Given the description of an element on the screen output the (x, y) to click on. 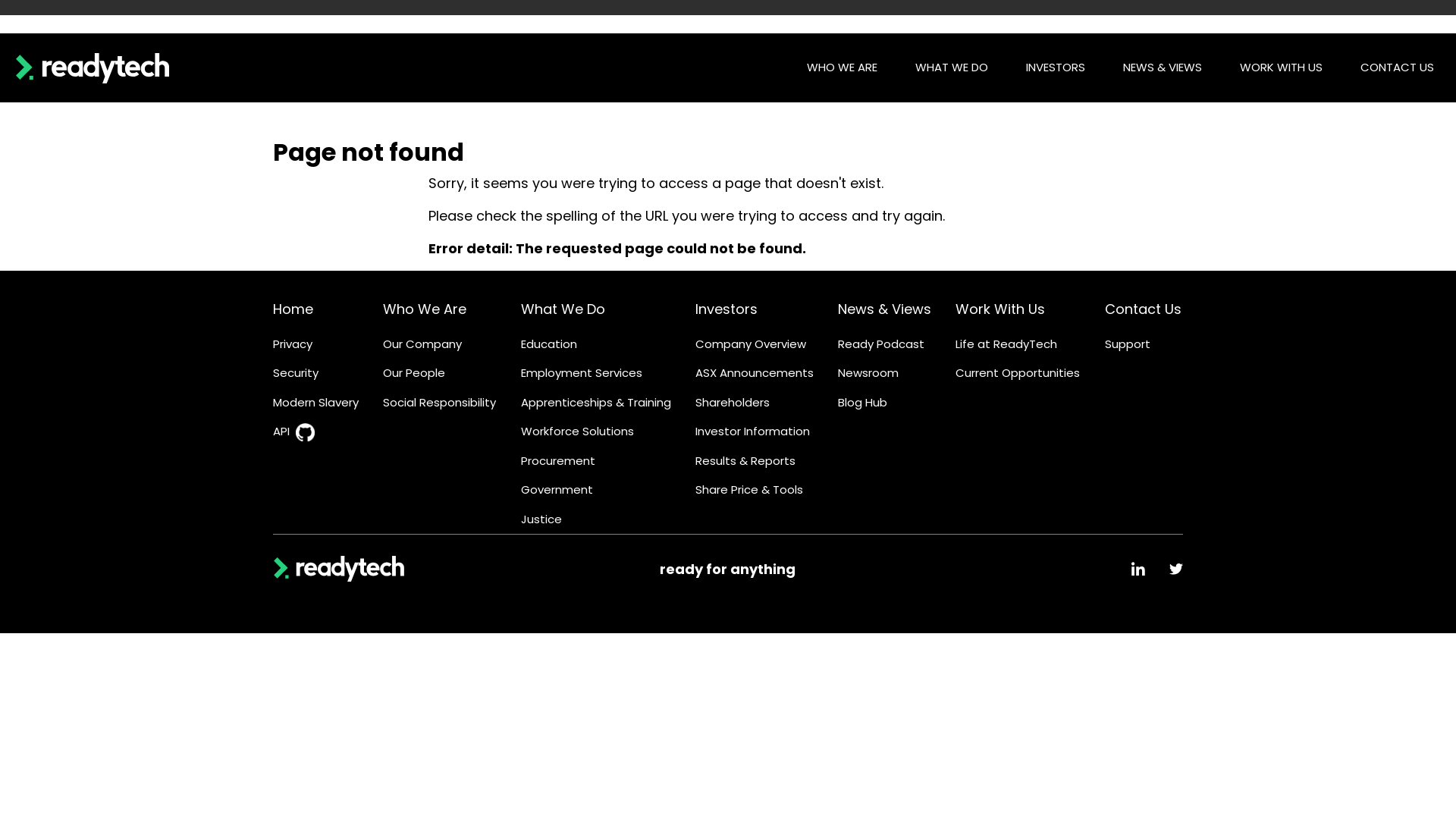
Work With Us Element type: text (999, 308)
Readytech Element type: text (338, 568)
Shareholders Element type: text (732, 402)
Security Element type: text (295, 373)
INVESTORS Element type: text (1055, 67)
Who We Are Element type: text (424, 308)
Blog Hub Element type: text (862, 402)
Privacy Element type: text (292, 344)
API Element type: text (281, 431)
Ready Podcast Element type: text (880, 344)
Investors Element type: text (726, 308)
NEWS & VIEWS Element type: text (1162, 67)
Our Company Element type: text (421, 344)
Procurement Element type: text (557, 461)
ReadyTech Element type: text (92, 67)
Employment Services Element type: text (581, 373)
Life at ReadyTech Element type: text (1006, 344)
Contact Us Element type: text (1142, 308)
Share Price & Tools Element type: text (749, 490)
Apprenticeships & Training Element type: text (595, 402)
Support Element type: text (1127, 344)
ASX Announcements Element type: text (754, 373)
Results & Reports Element type: text (745, 461)
WHO WE ARE Element type: text (841, 67)
Government Element type: text (556, 490)
What We Do Element type: text (562, 308)
Newsroom Element type: text (867, 373)
Investor Information Element type: text (752, 431)
Workforce Solutions Element type: text (576, 431)
Modern Slavery Element type: text (315, 402)
Company Overview Element type: text (750, 344)
Our People Element type: text (413, 373)
CONTACT US Element type: text (1396, 67)
Home Element type: text (293, 308)
WHAT WE DO Element type: text (951, 67)
Current Opportunities Element type: text (1017, 373)
WORK WITH US Element type: text (1280, 67)
News & Views Element type: text (884, 308)
Justice Element type: text (540, 519)
Social Responsibility Element type: text (438, 402)
Education Element type: text (548, 344)
